Given the description of an element on the screen output the (x, y) to click on. 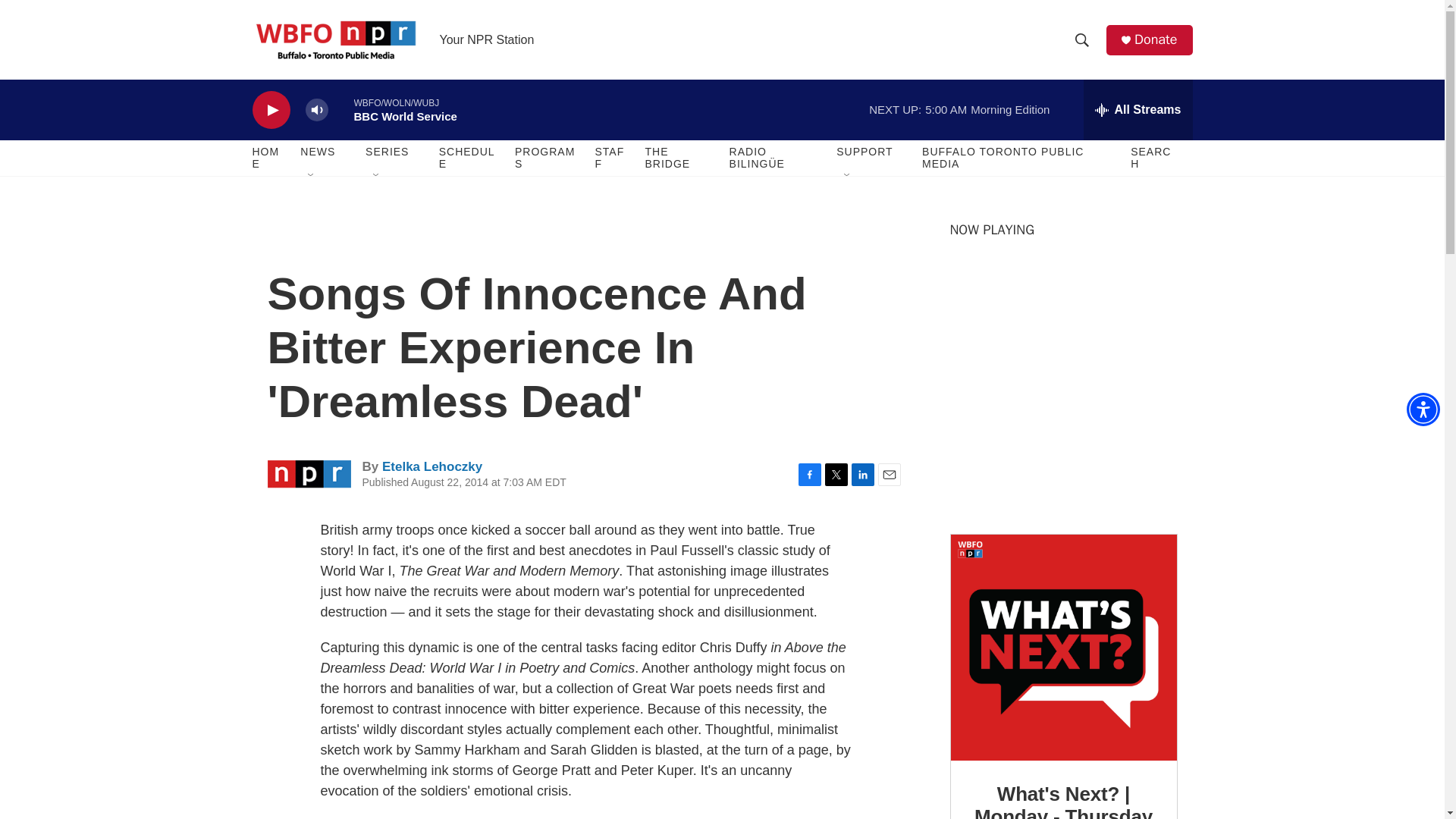
3rd party ad content (1062, 408)
Accessibility Menu (1422, 409)
